Given the description of an element on the screen output the (x, y) to click on. 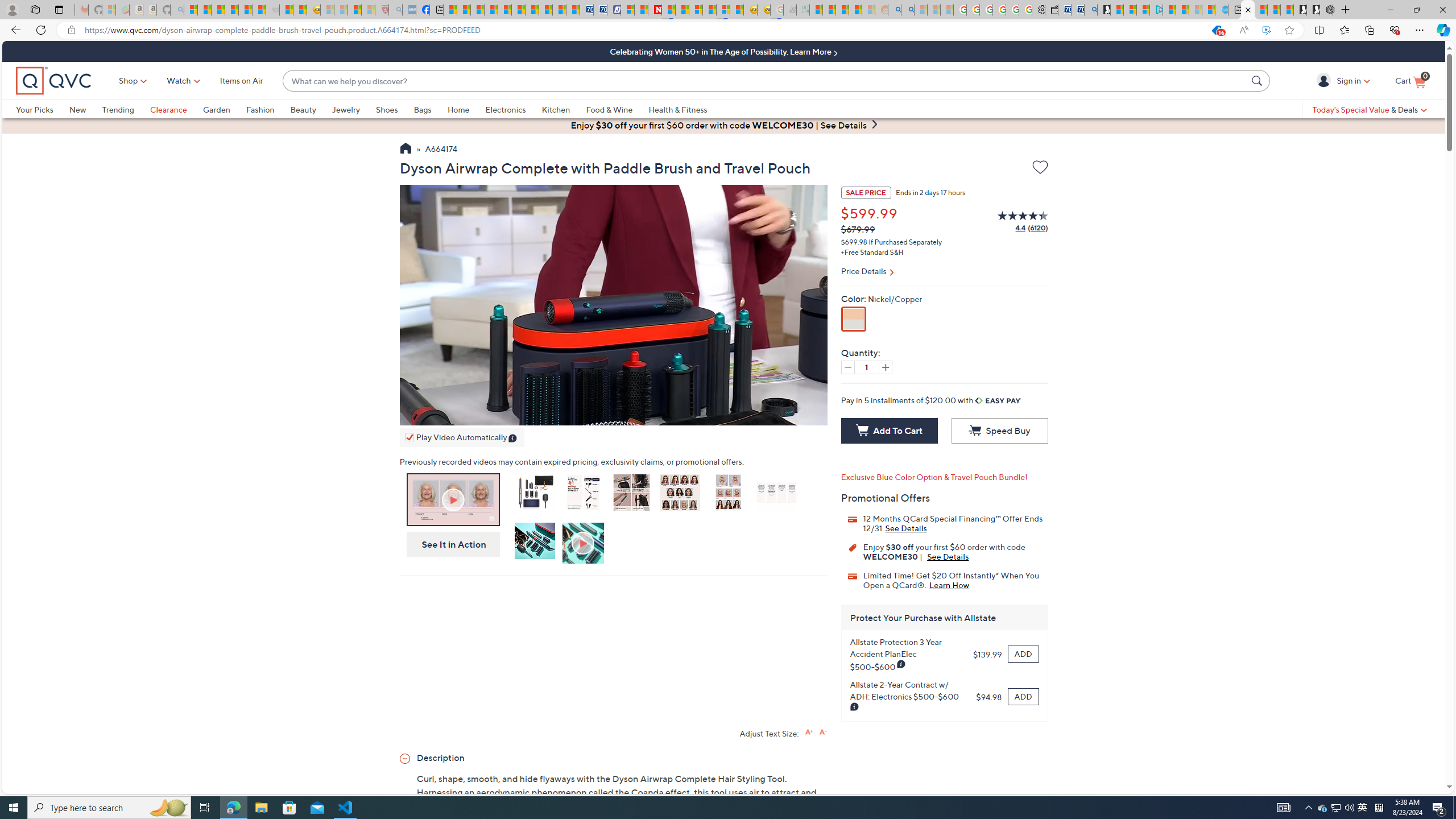
Return to QVC Homepage (405, 149)
Utah sues federal government - Search (907, 9)
New (76, 109)
Shop (129, 80)
Progress Bar (612, 400)
Beauty (302, 109)
